Given the description of an element on the screen output the (x, y) to click on. 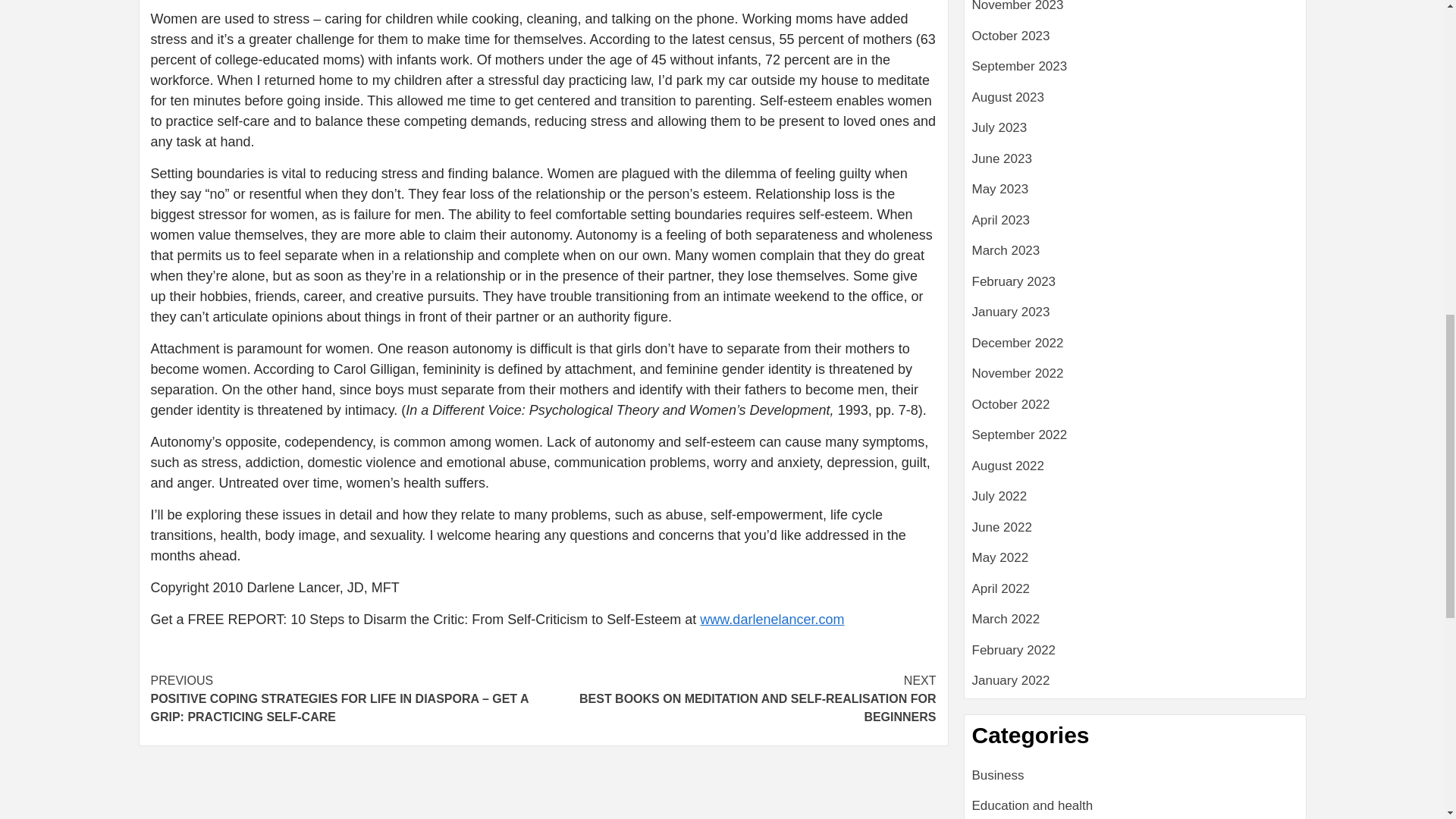
October 2023 (1135, 41)
www.darlenelancer.com (772, 619)
May 2023 (1135, 194)
November 2023 (1135, 13)
February 2023 (1135, 287)
June 2023 (1135, 164)
July 2023 (1135, 133)
March 2023 (1135, 255)
August 2023 (1135, 102)
